Given the description of an element on the screen output the (x, y) to click on. 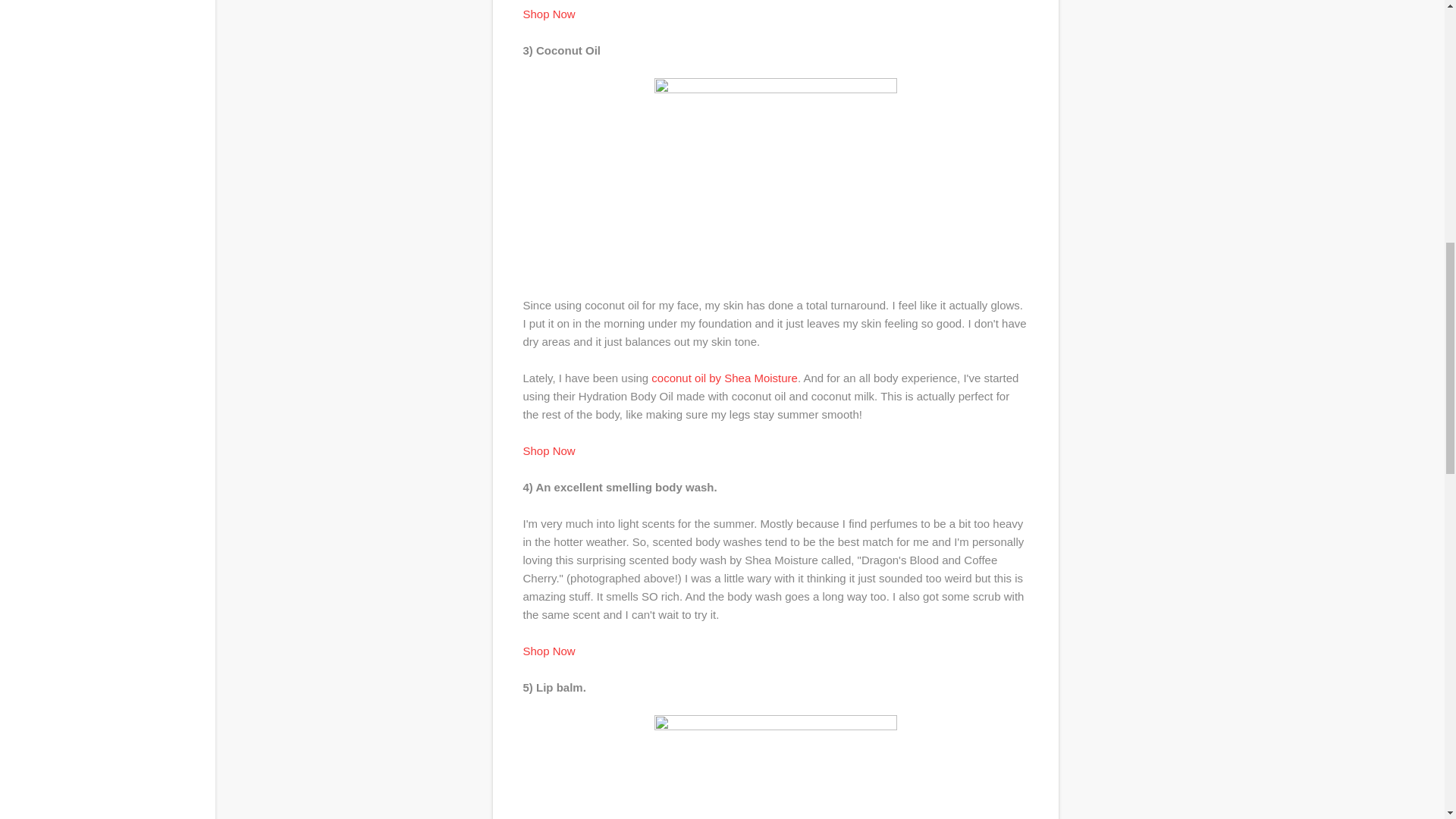
Shop Now (548, 650)
coconut oil by Shea Moisture (723, 377)
Shop Now (548, 13)
Shop Now (548, 450)
